Given the description of an element on the screen output the (x, y) to click on. 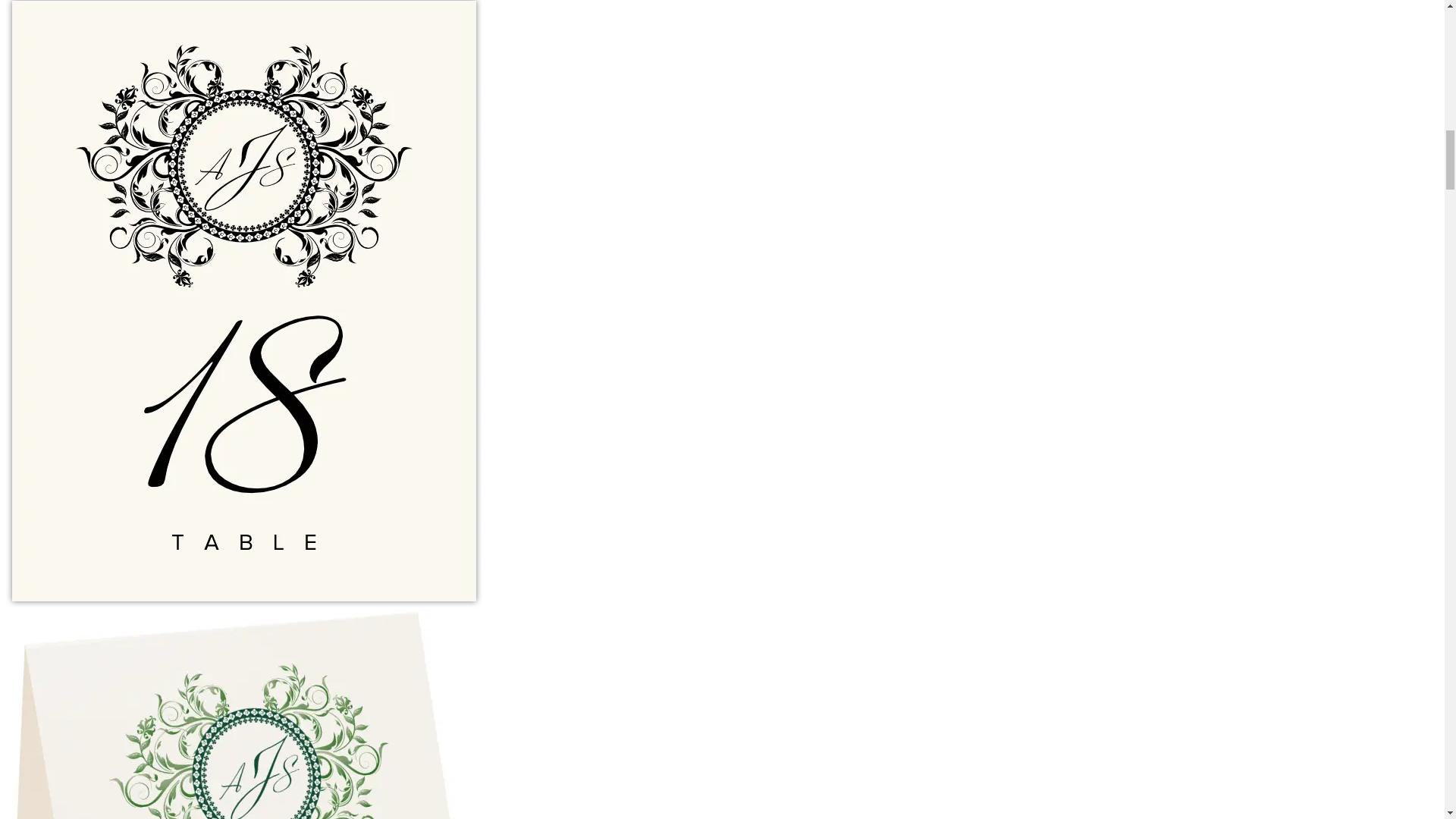
Photograph of Tented Gingee Table Numbers (250, 714)
